Given the description of an element on the screen output the (x, y) to click on. 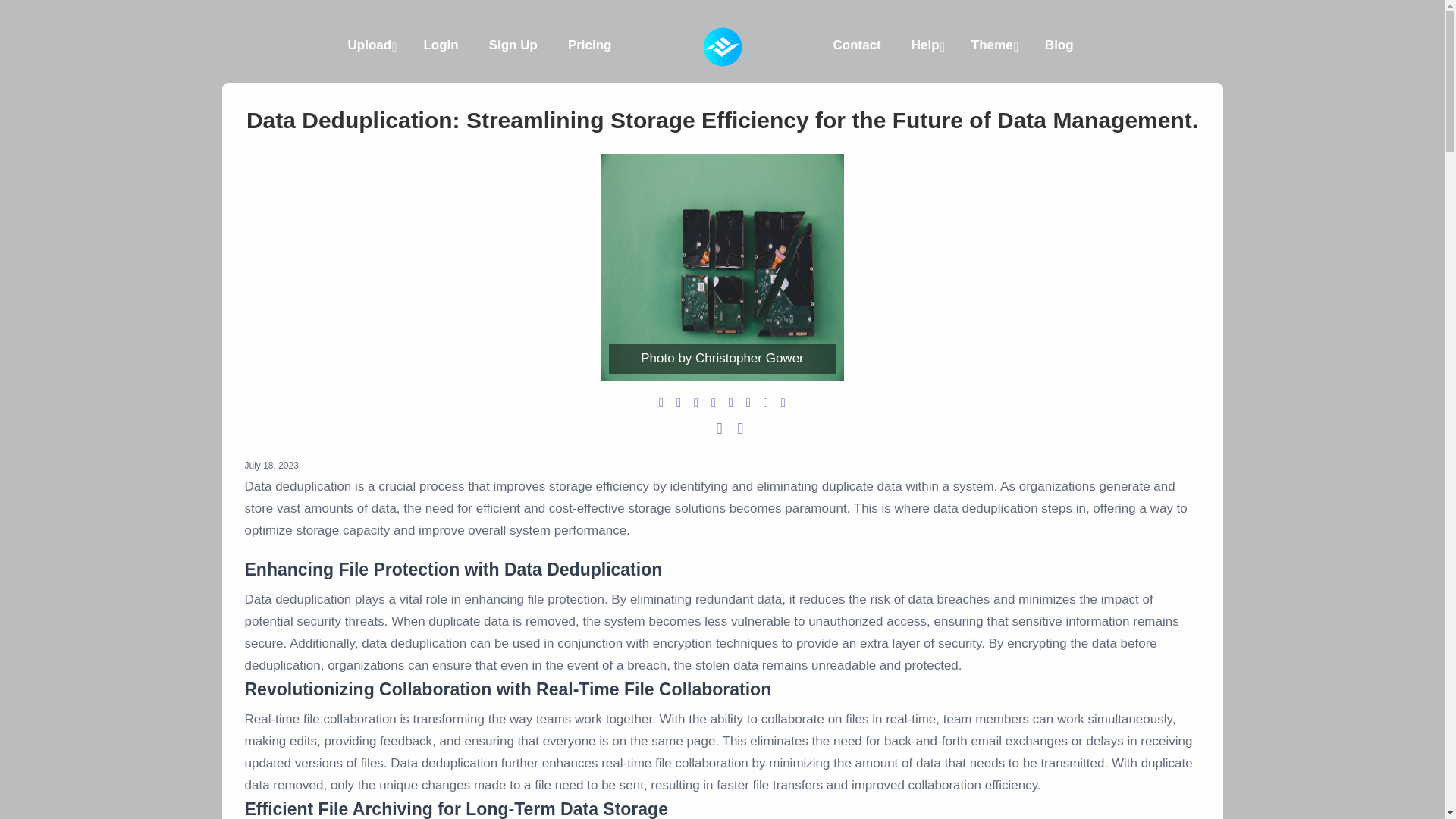
Pricing (590, 45)
Help (926, 46)
Sign Up (513, 45)
Login (440, 45)
Contact (855, 45)
Upload (371, 46)
